Given the description of an element on the screen output the (x, y) to click on. 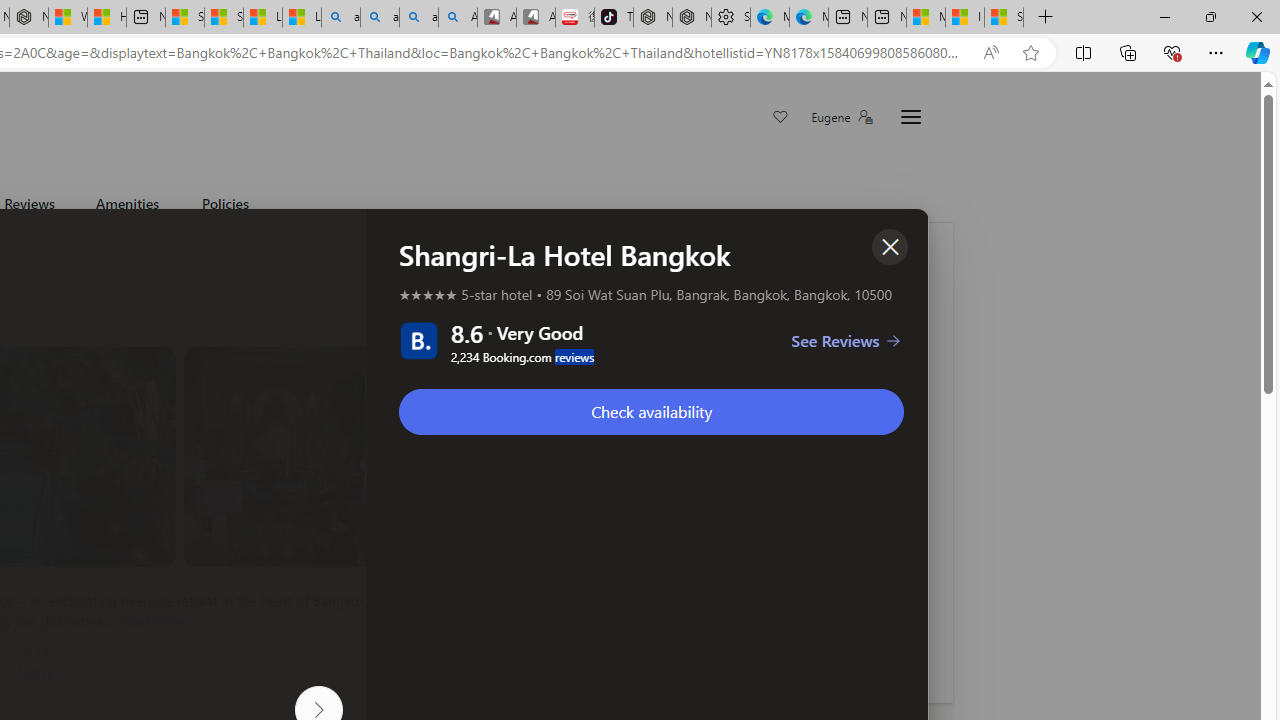
Nordace Siena Pro 15 Backpack (691, 17)
amazon - Search Images (418, 17)
